Given the description of an element on the screen output the (x, y) to click on. 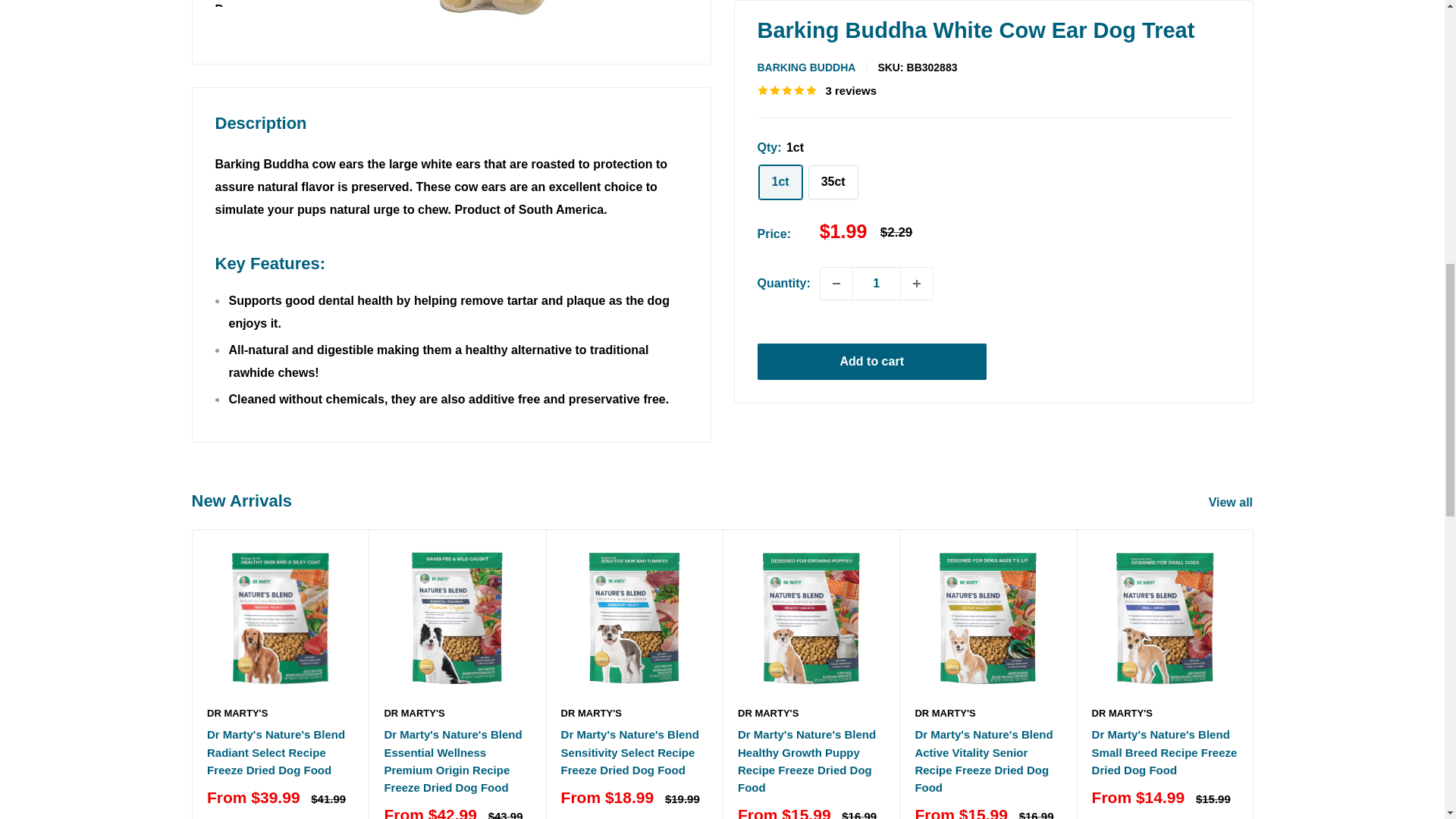
View all (1240, 502)
Add to cart (872, 15)
DR MARTY'S (279, 713)
